Given the description of an element on the screen output the (x, y) to click on. 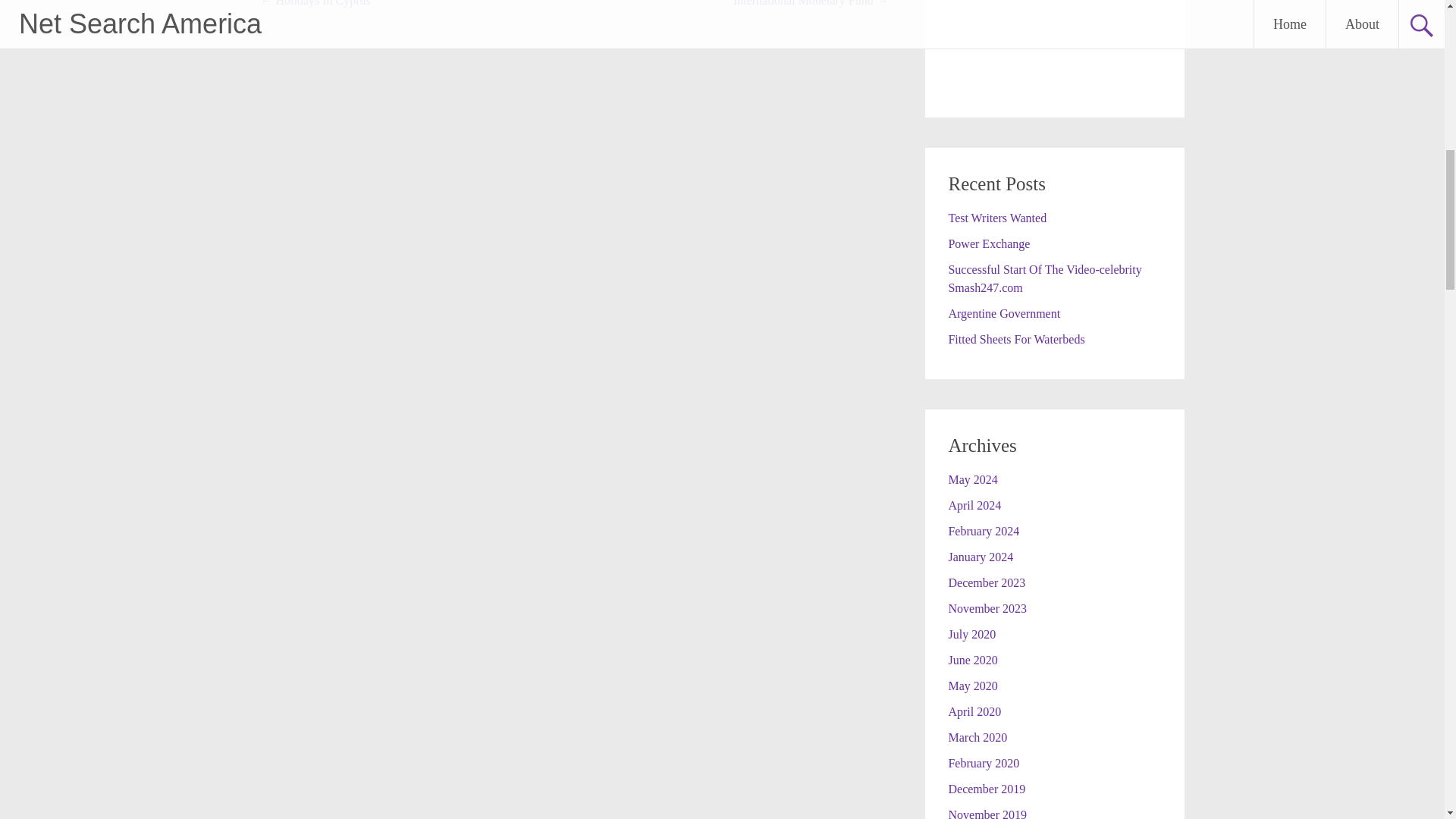
Argentine Government (1003, 313)
December 2023 (986, 582)
December 2019 (986, 788)
April 2024 (974, 504)
May 2024 (972, 479)
February 2020 (983, 762)
November 2023 (986, 608)
July 2020 (971, 634)
Fitted Sheets For Waterbeds (1015, 338)
Power Exchange (988, 243)
